Given the description of an element on the screen output the (x, y) to click on. 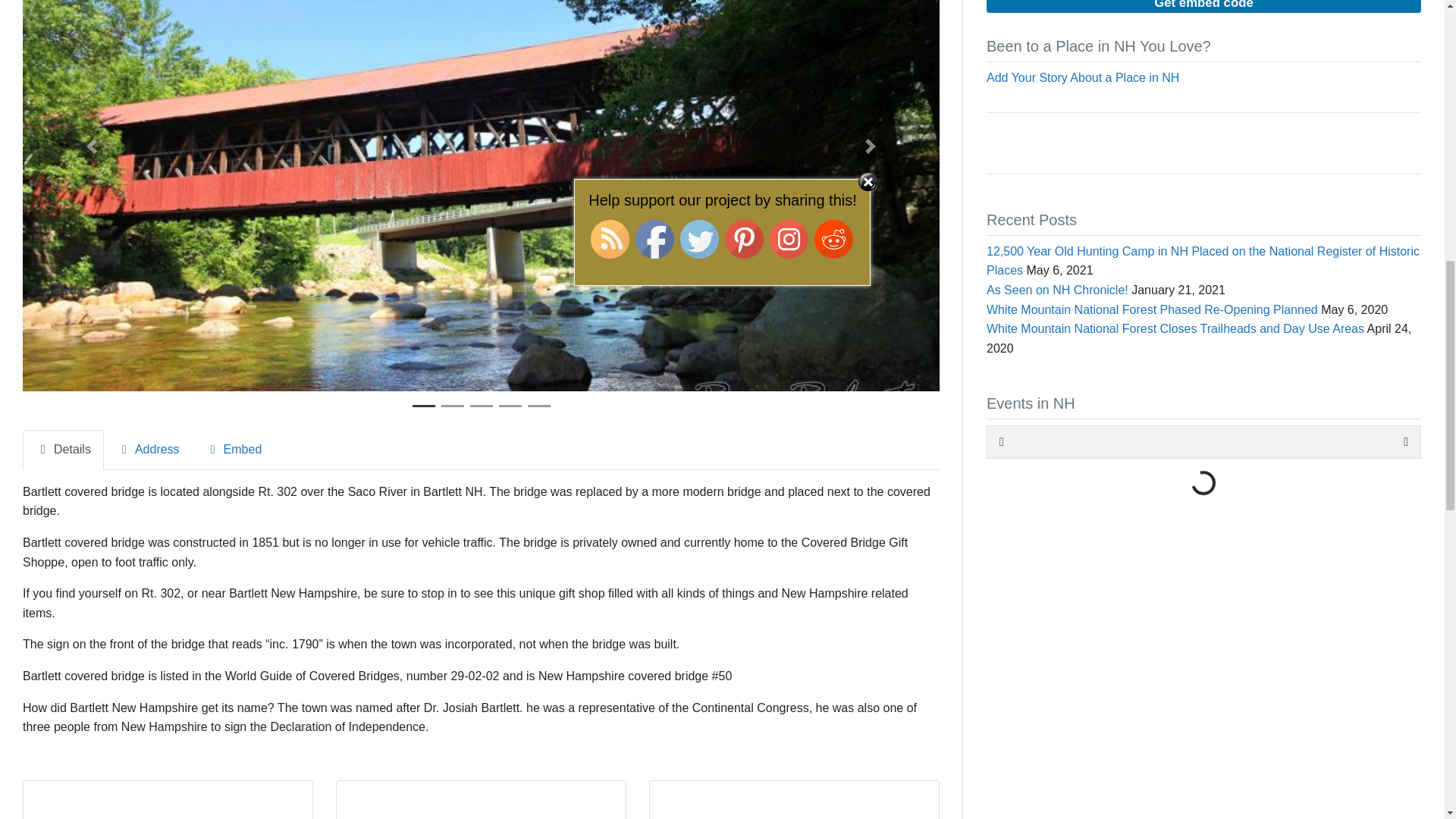
Details (63, 449)
Embed (233, 449)
Address (147, 449)
